Given the description of an element on the screen output the (x, y) to click on. 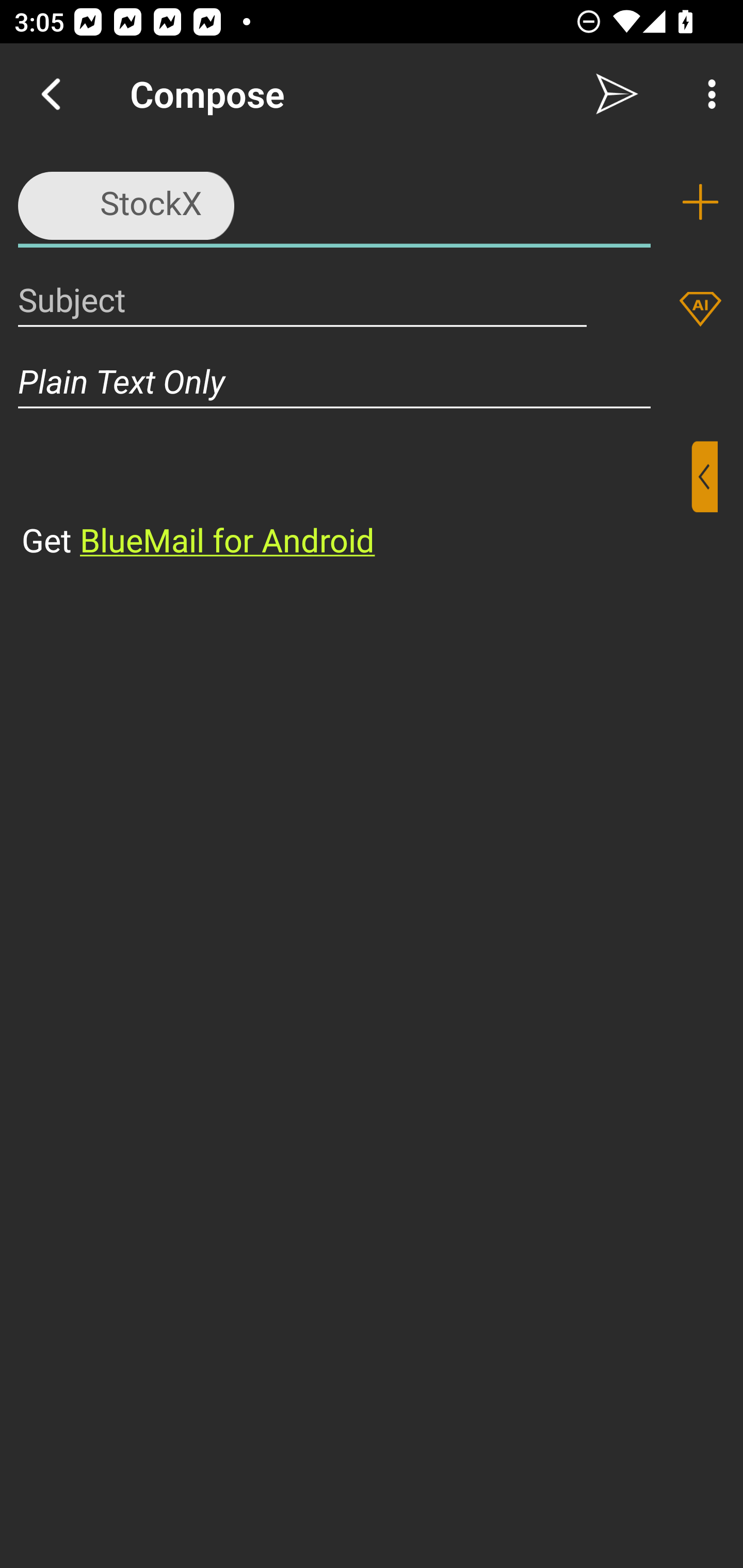
Navigate up (50, 93)
Send (616, 93)
More Options (706, 93)
StockX <noreply@stockx.com>,  (334, 201)
Add recipient (To) (699, 201)
Subject (302, 299)
Plain Text Only (334, 380)


⁣Get BlueMail for Android ​ (355, 501)
